Given the description of an element on the screen output the (x, y) to click on. 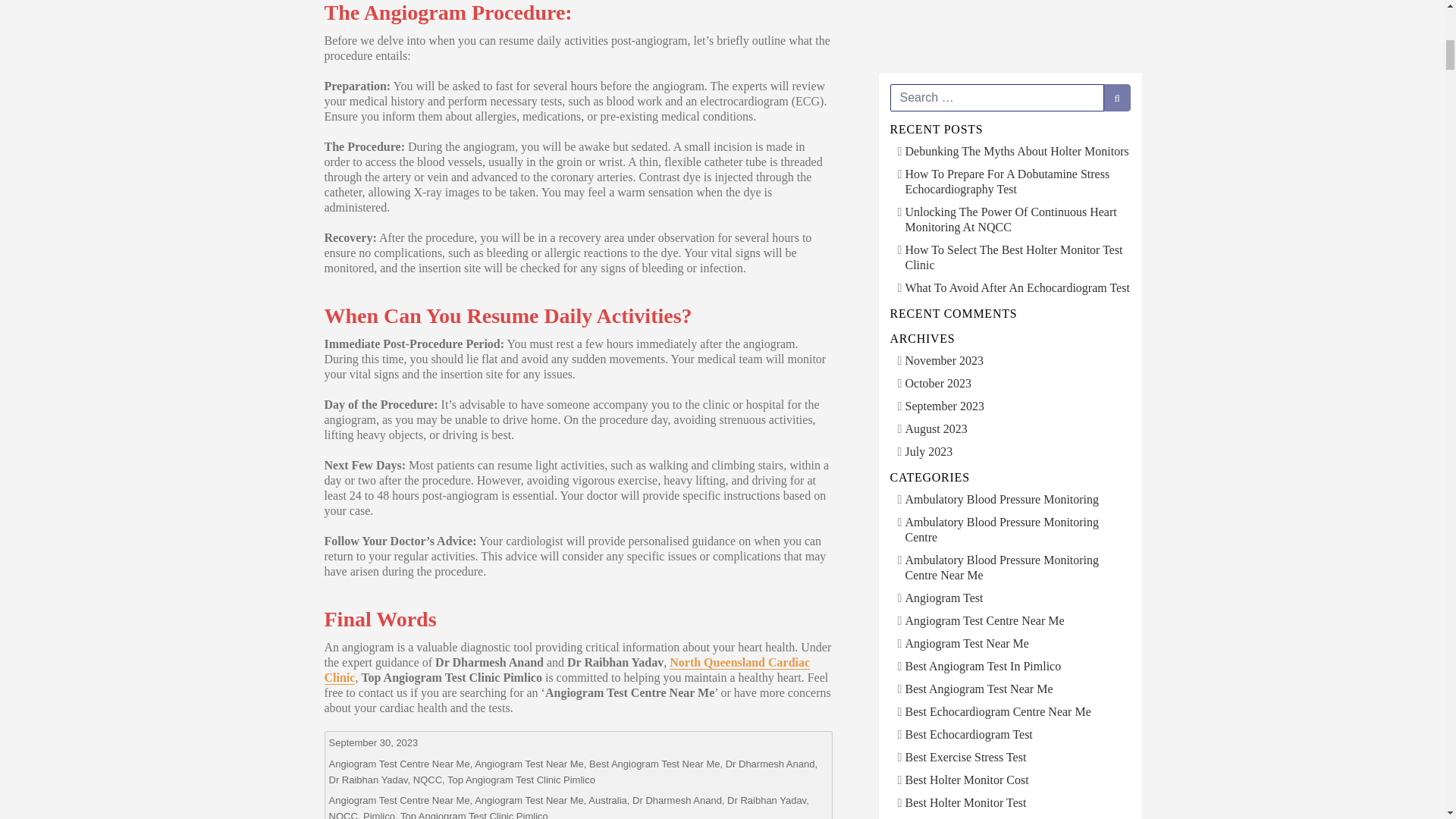
North Queensland Cardiac Clinic (567, 669)
Top Angiogram Test Clinic Pimlico (474, 814)
Angiogram Test Near Me (528, 763)
Dr Raibhan Yadav (766, 799)
Dr Raibhan Yadav (368, 778)
Dr Dharmesh Anand (770, 763)
Angiogram Test Near Me (528, 799)
Angiogram Test Centre Near Me (399, 763)
Pimlico (378, 814)
Top Angiogram Test Clinic Pimlico (520, 778)
